Given the description of an element on the screen output the (x, y) to click on. 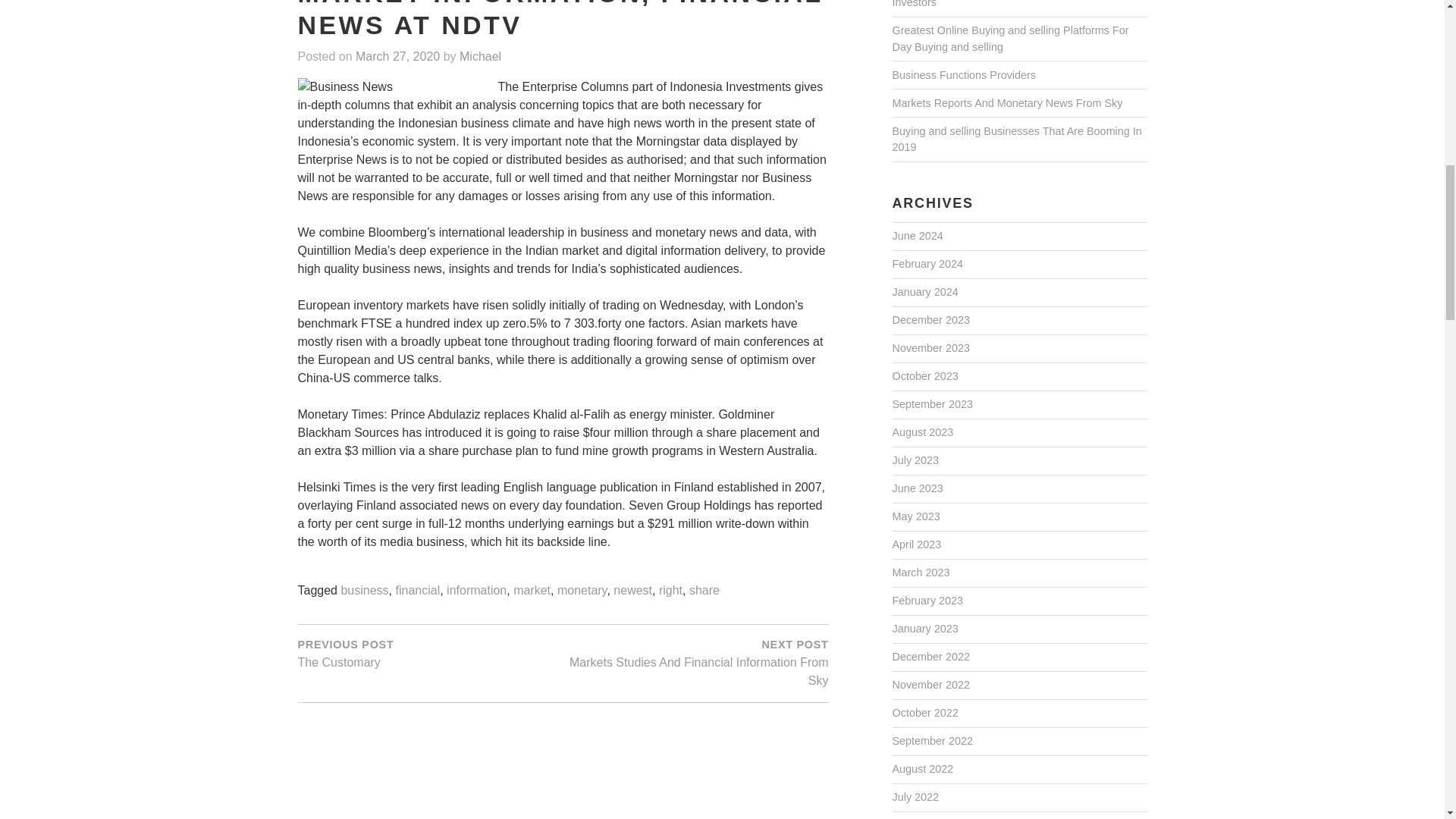
financial (416, 590)
December 2023 (930, 320)
March 2023 (920, 572)
September 2023 (931, 404)
newest (632, 590)
share (703, 590)
June 2023 (916, 489)
March 27, 2020 (397, 56)
Business Functions Providers (963, 75)
May 2023 (915, 517)
August 2023 (922, 432)
Buying and selling Businesses That Are Booming In 2019 (1016, 140)
Markets Reports And Monetary News From Sky (1006, 103)
